Given the description of an element on the screen output the (x, y) to click on. 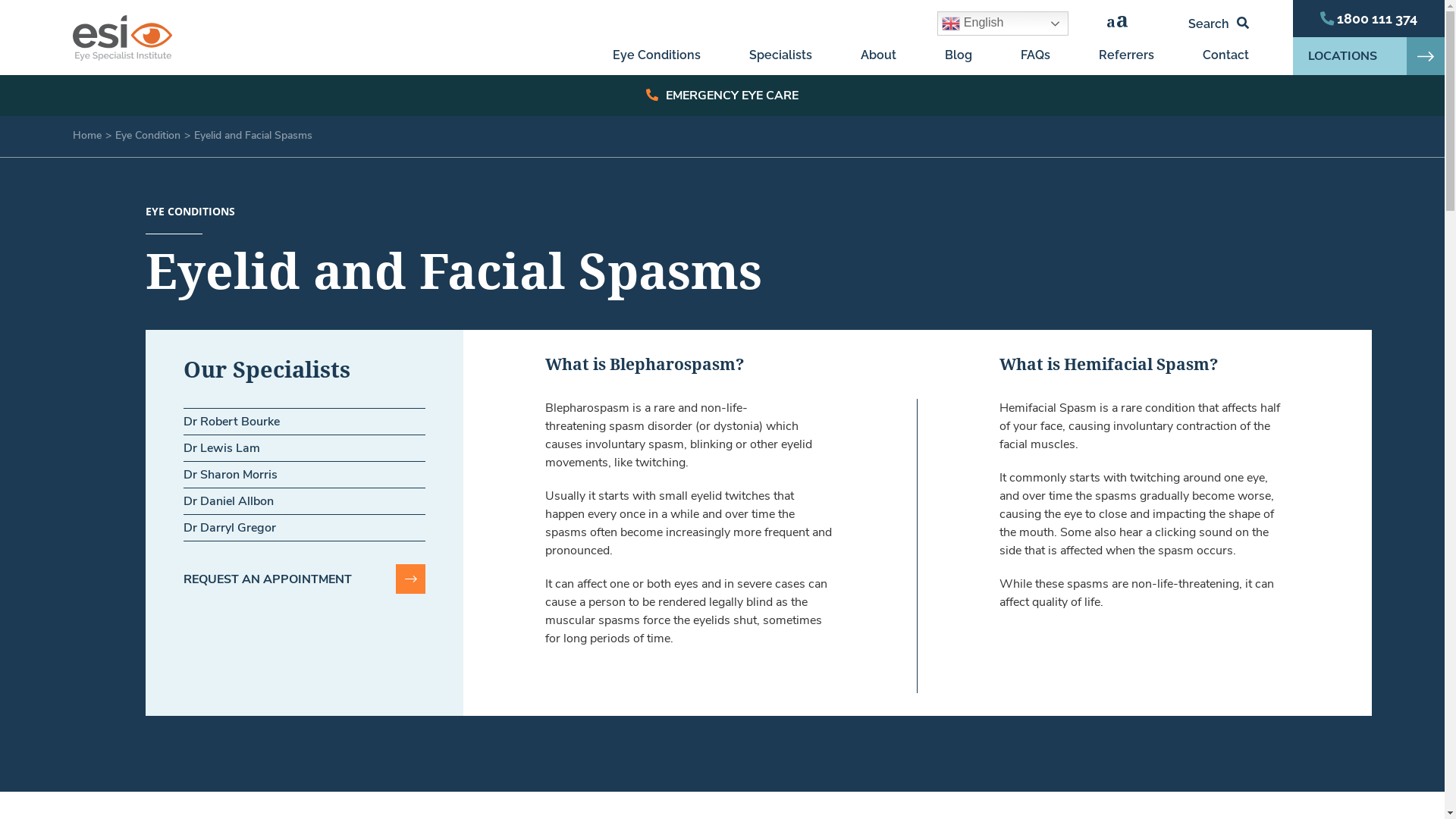
Home Element type: text (86, 134)
Dr Darryl Gregor Element type: text (229, 527)
English Element type: text (1002, 23)
Contact Element type: text (1225, 56)
Dr Lewis Lam Element type: text (221, 447)
Eye Condition Element type: text (147, 134)
EMERGENCY EYE CARE Element type: text (722, 95)
REQUEST AN APPOINTMENT Element type: text (304, 578)
Search Element type: text (1218, 23)
Specialists Element type: text (780, 56)
Eye Conditions Element type: text (656, 56)
About Element type: text (878, 56)
FAQs Element type: text (1035, 56)
Dr Robert Bourke Element type: text (231, 421)
Referrers Element type: text (1126, 56)
Blog Element type: text (958, 56)
Dr Daniel Allbon Element type: text (228, 500)
Dr Sharon Morris Element type: text (230, 474)
LOCATIONS Element type: text (1368, 56)
